Given the description of an element on the screen output the (x, y) to click on. 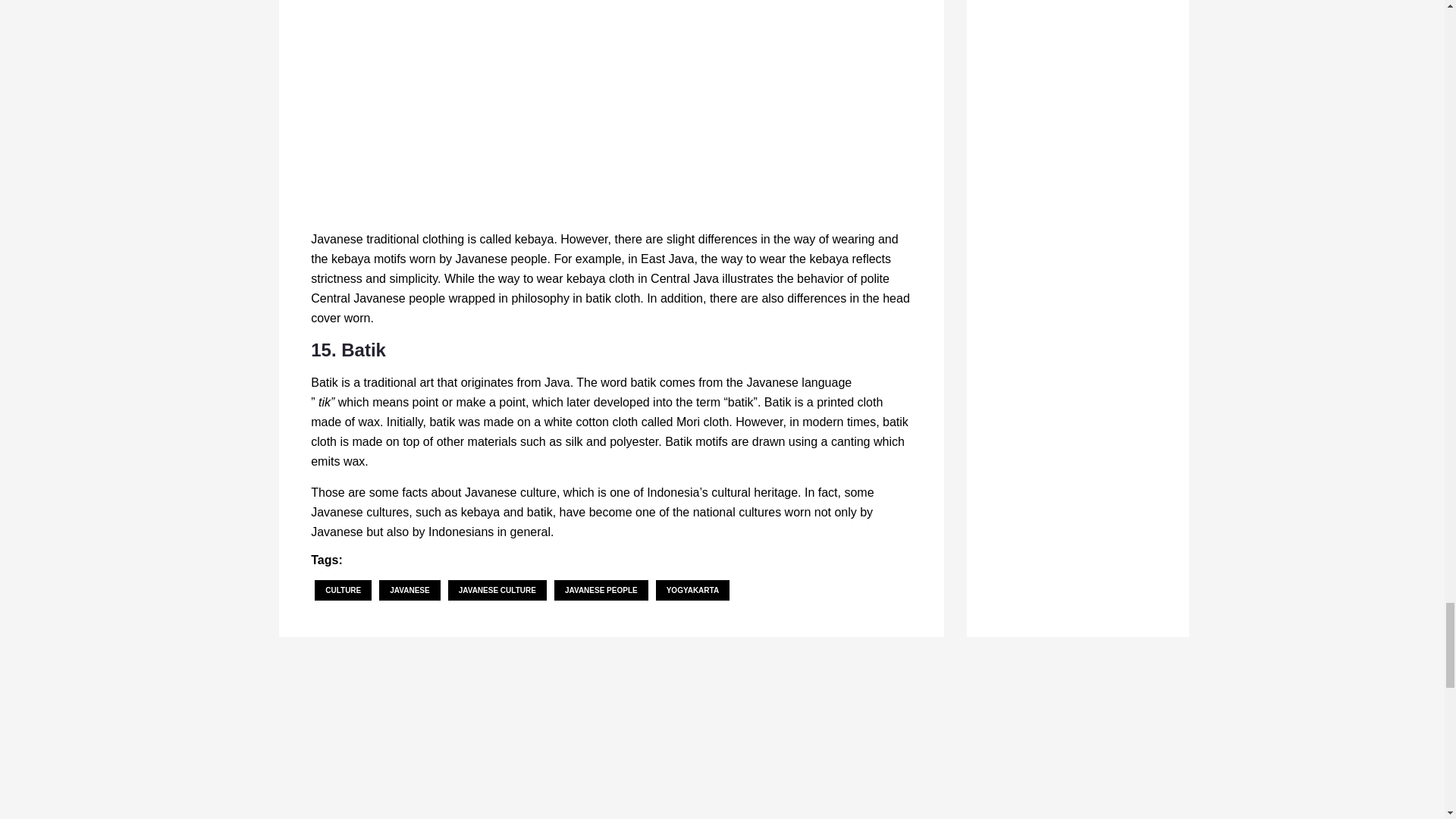
CULTURE (342, 589)
JAVANESE PEOPLE (600, 589)
JAVANESE CULTURE (497, 589)
YOGYAKARTA (692, 589)
JAVANESE (408, 589)
